Given the description of an element on the screen output the (x, y) to click on. 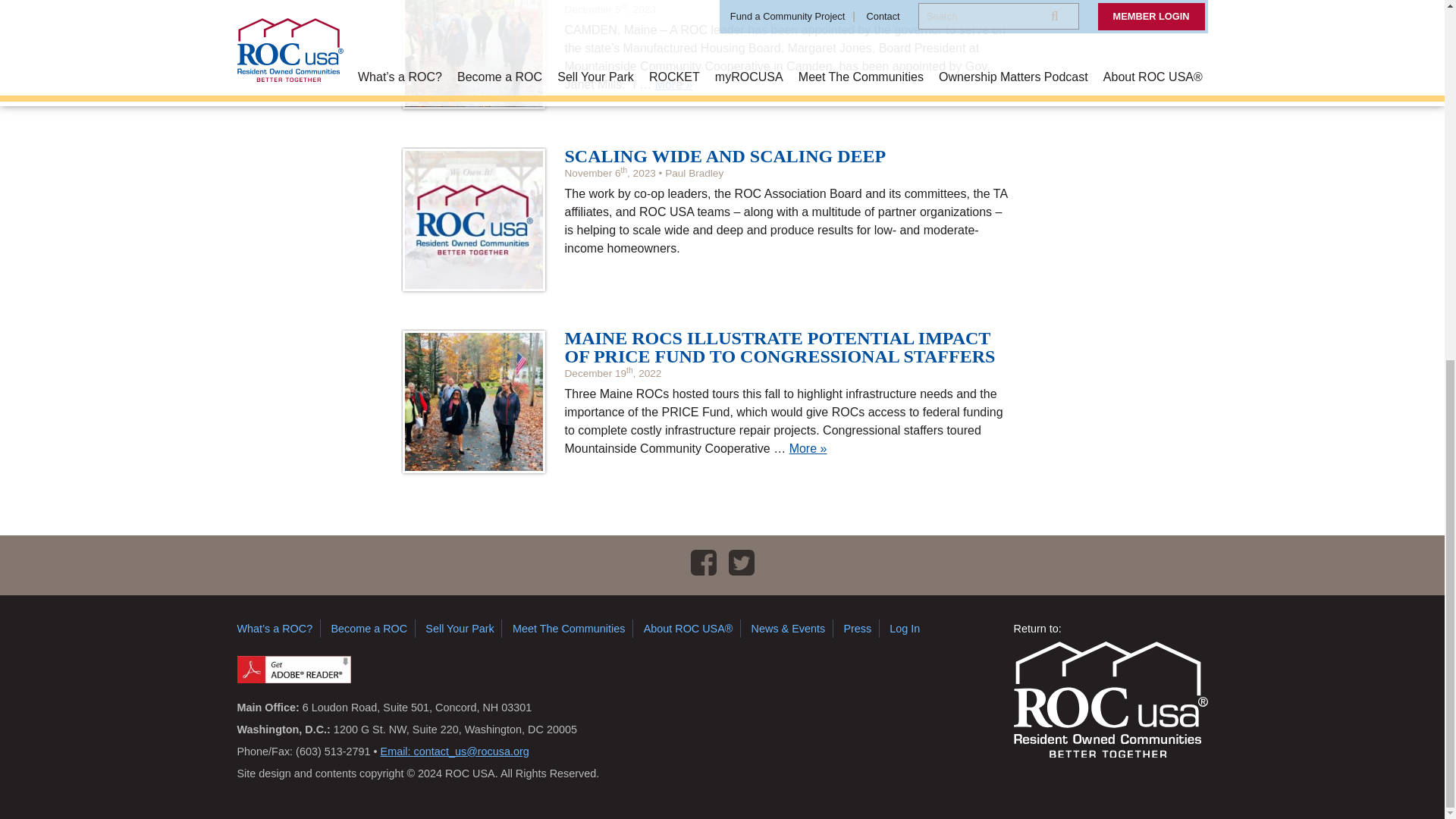
Get Adobe Reader (292, 669)
SCALING WIDE AND SCALING DEEP (724, 156)
